Given the description of an element on the screen output the (x, y) to click on. 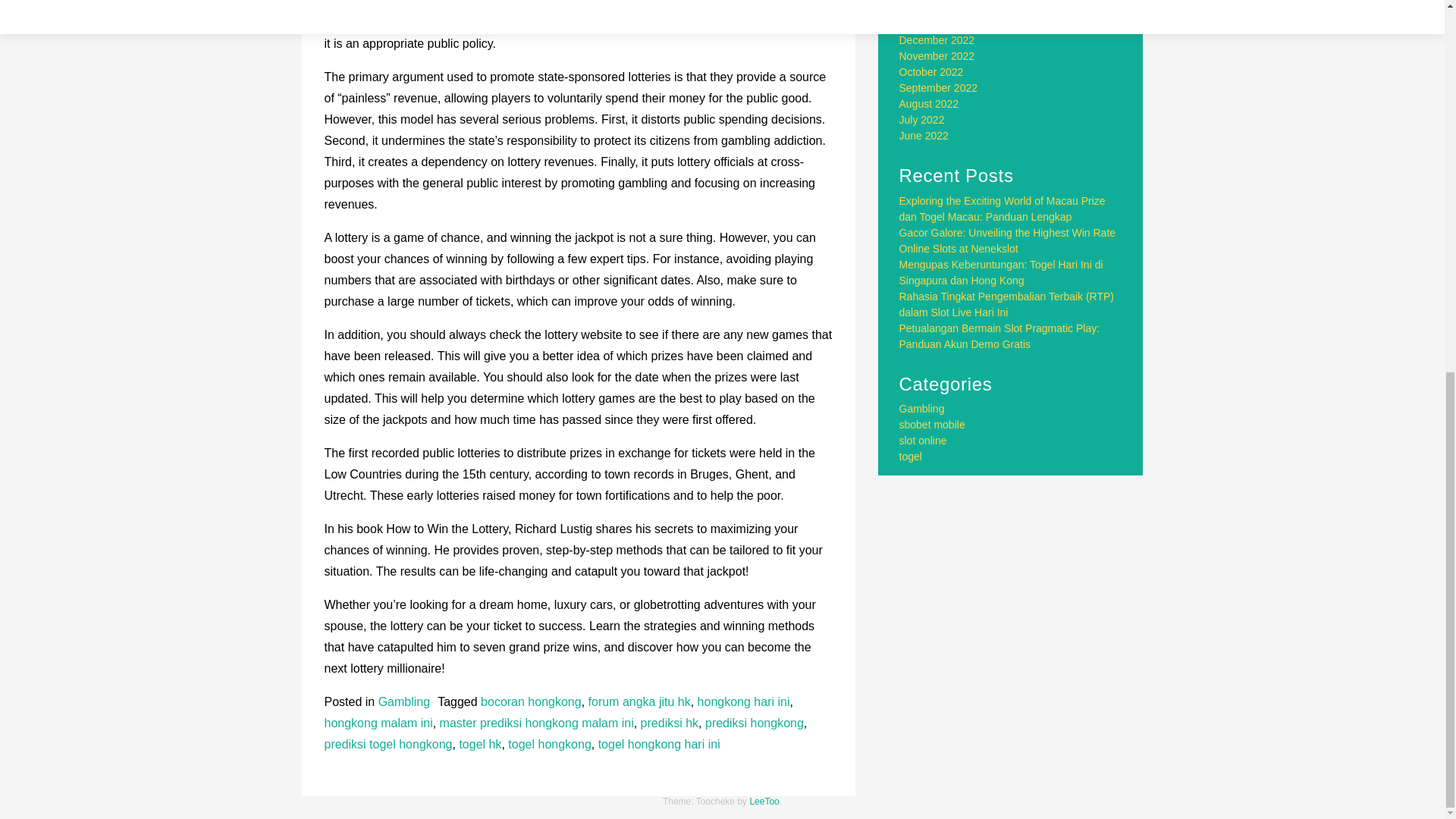
December 2022 (937, 39)
prediksi hongkong (753, 722)
hongkong hari ini (743, 701)
prediksi hk (669, 722)
forum angka jitu hk (639, 701)
February 2023 (933, 8)
togel hongkong (549, 744)
November 2022 (937, 55)
hongkong malam ini (378, 722)
togel hongkong hari ini (659, 744)
master prediksi hongkong malam ini (536, 722)
bocoran hongkong (530, 701)
Gambling (403, 701)
January 2023 (931, 24)
togel hk (479, 744)
